Given the description of an element on the screen output the (x, y) to click on. 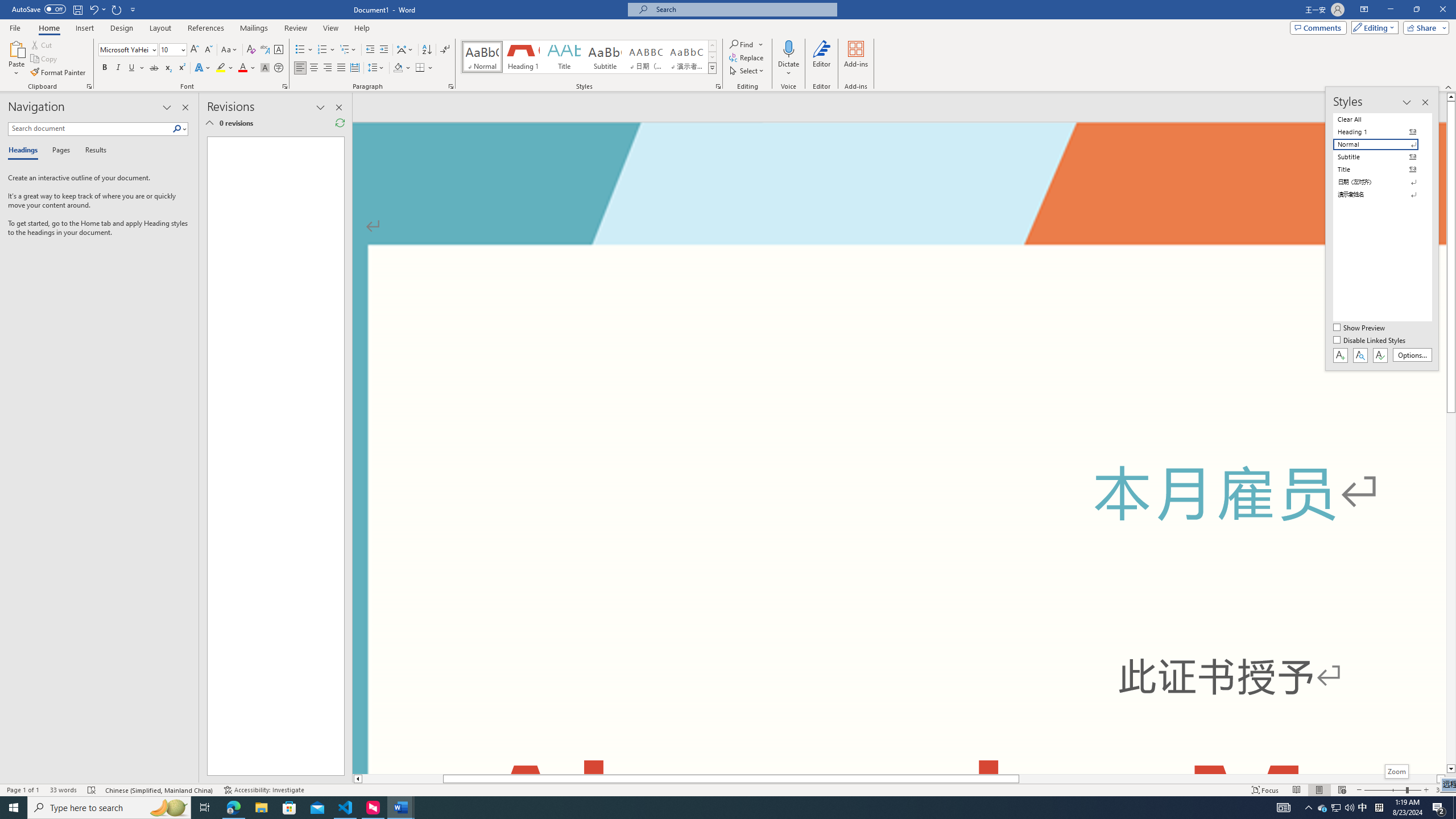
Page Number Page 1 of 1 (22, 790)
Page right (1228, 778)
